Given the description of an element on the screen output the (x, y) to click on. 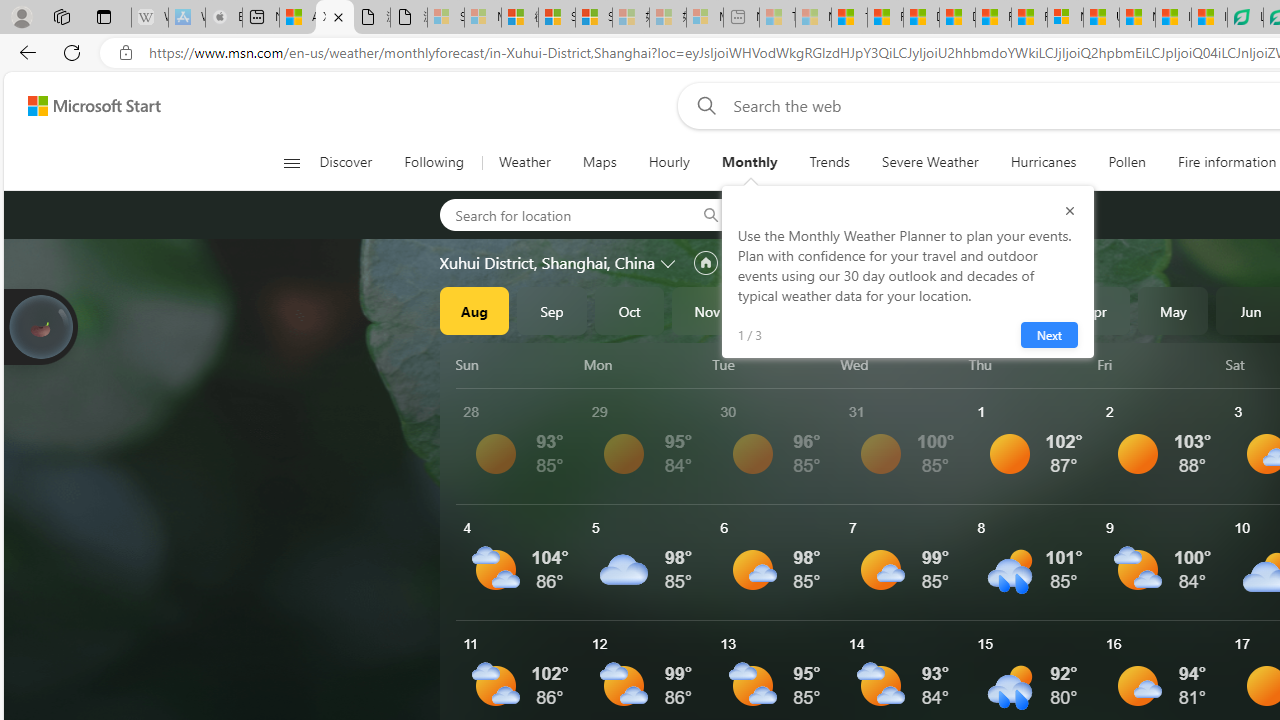
Aberdeen (798, 214)
Hurricanes (1042, 162)
Join us in planting real trees to help our planet! (40, 327)
Microsoft Services Agreement - Sleeping (482, 17)
Fire information (1227, 162)
Monthly (749, 162)
Sep (552, 310)
